Given the description of an element on the screen output the (x, y) to click on. 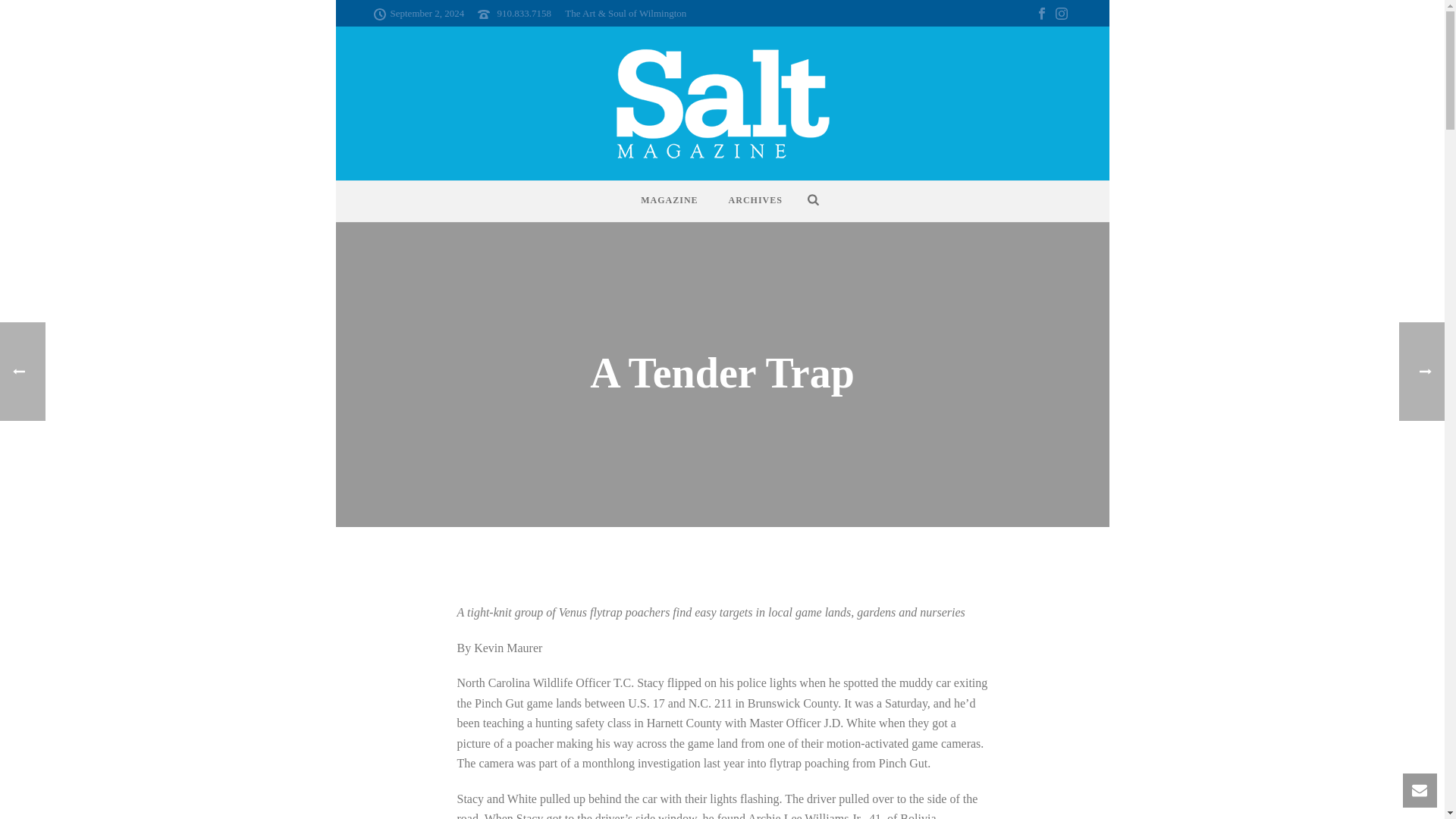
Salt Magazine (721, 103)
MAGAZINE (669, 200)
910.833.7158 (524, 12)
ARCHIVES (755, 200)
MAGAZINE (669, 200)
ARCHIVES (755, 200)
